Given the description of an element on the screen output the (x, y) to click on. 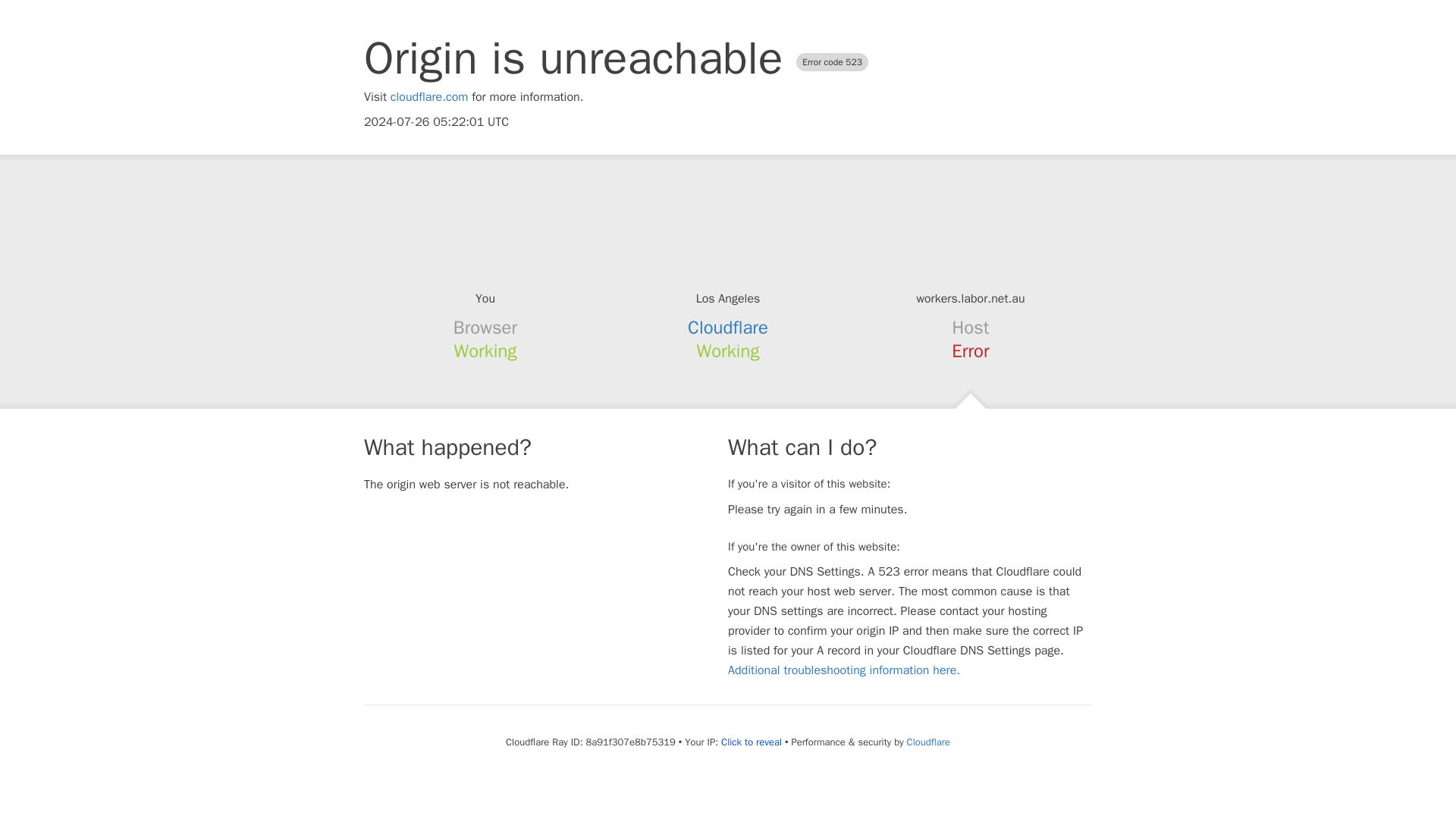
cloudflare.com (429, 96)
Cloudflare (727, 327)
Additional troubleshooting information here. (843, 670)
Click to reveal (750, 742)
Cloudflare (928, 741)
